Given the description of an element on the screen output the (x, y) to click on. 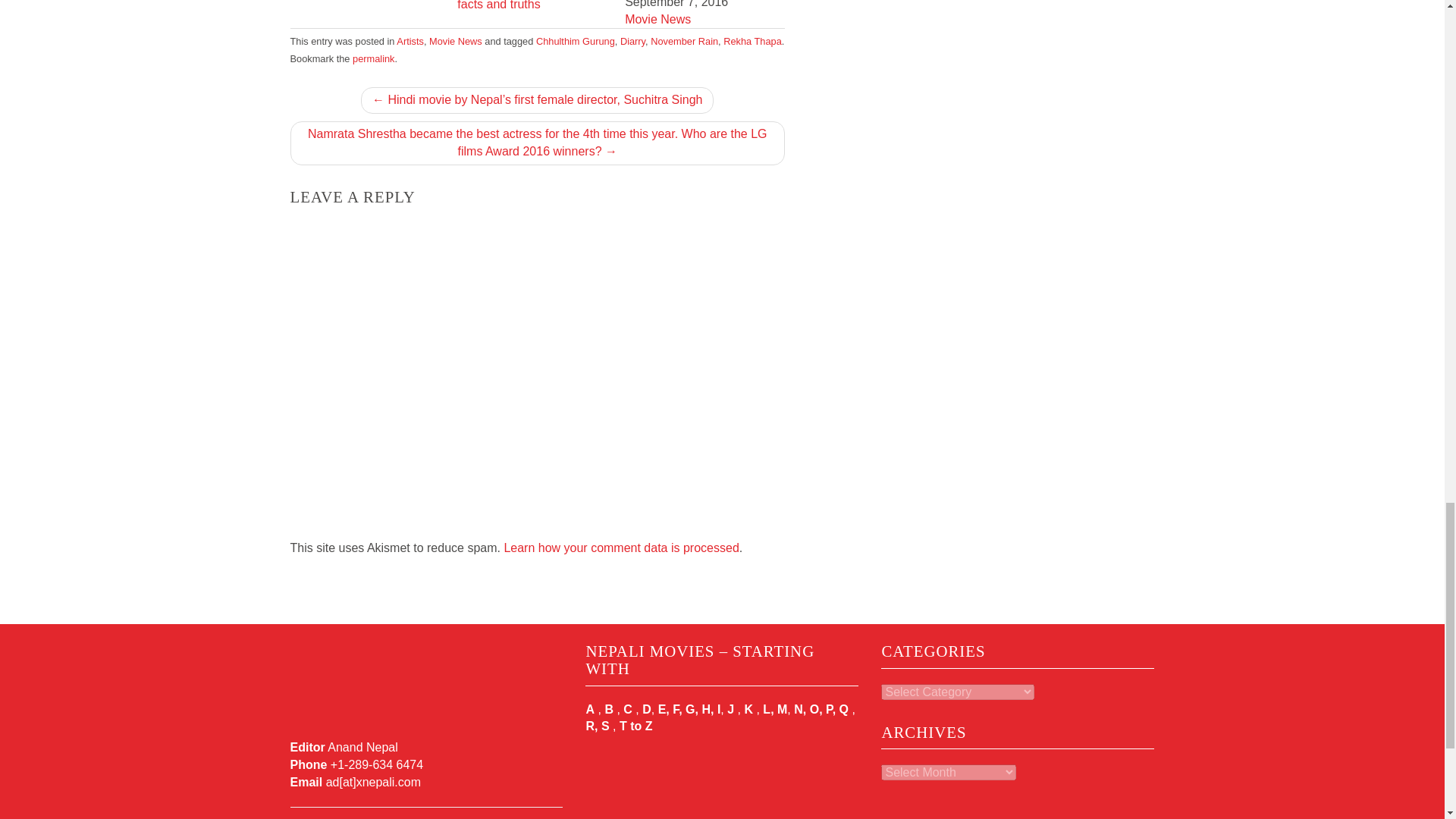
Artists (409, 41)
Rekha Thapa (752, 41)
permalink (373, 58)
November Rain (683, 41)
Diarry (632, 41)
Movie News (455, 41)
Chhulthim Gurung (574, 41)
facts and truths (498, 5)
Learn how your comment data is processed (620, 547)
